Given the description of an element on the screen output the (x, y) to click on. 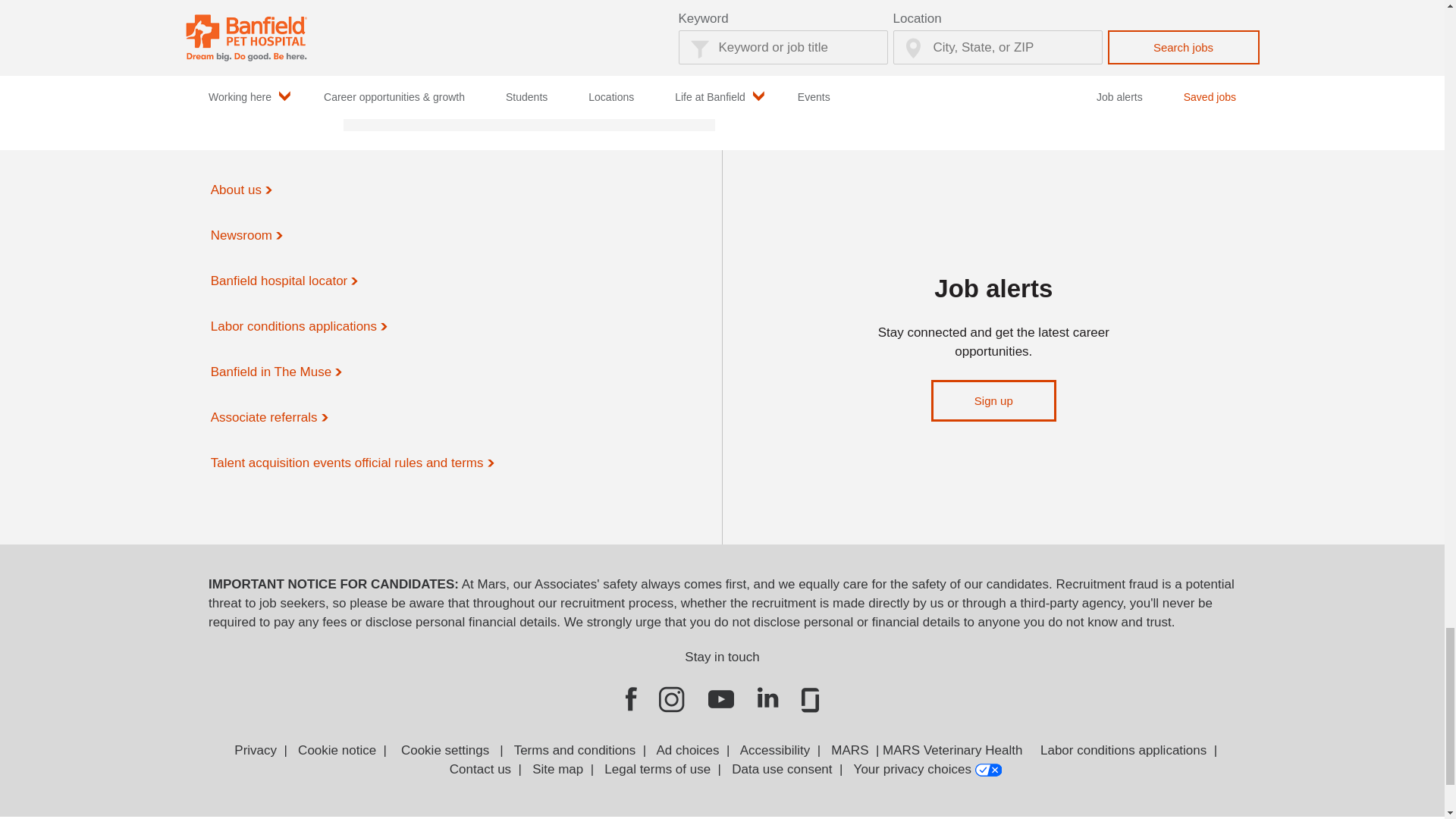
About us (239, 189)
Associate referrals (267, 417)
Banfield in The Muse (274, 371)
Sign up (994, 400)
Talent acquisition events official rules and terms (350, 462)
Instagram (672, 699)
Newsroom (245, 235)
Submit (412, 79)
Labor conditions applications (297, 326)
Banfield hospital locator (283, 280)
